Given the description of an element on the screen output the (x, y) to click on. 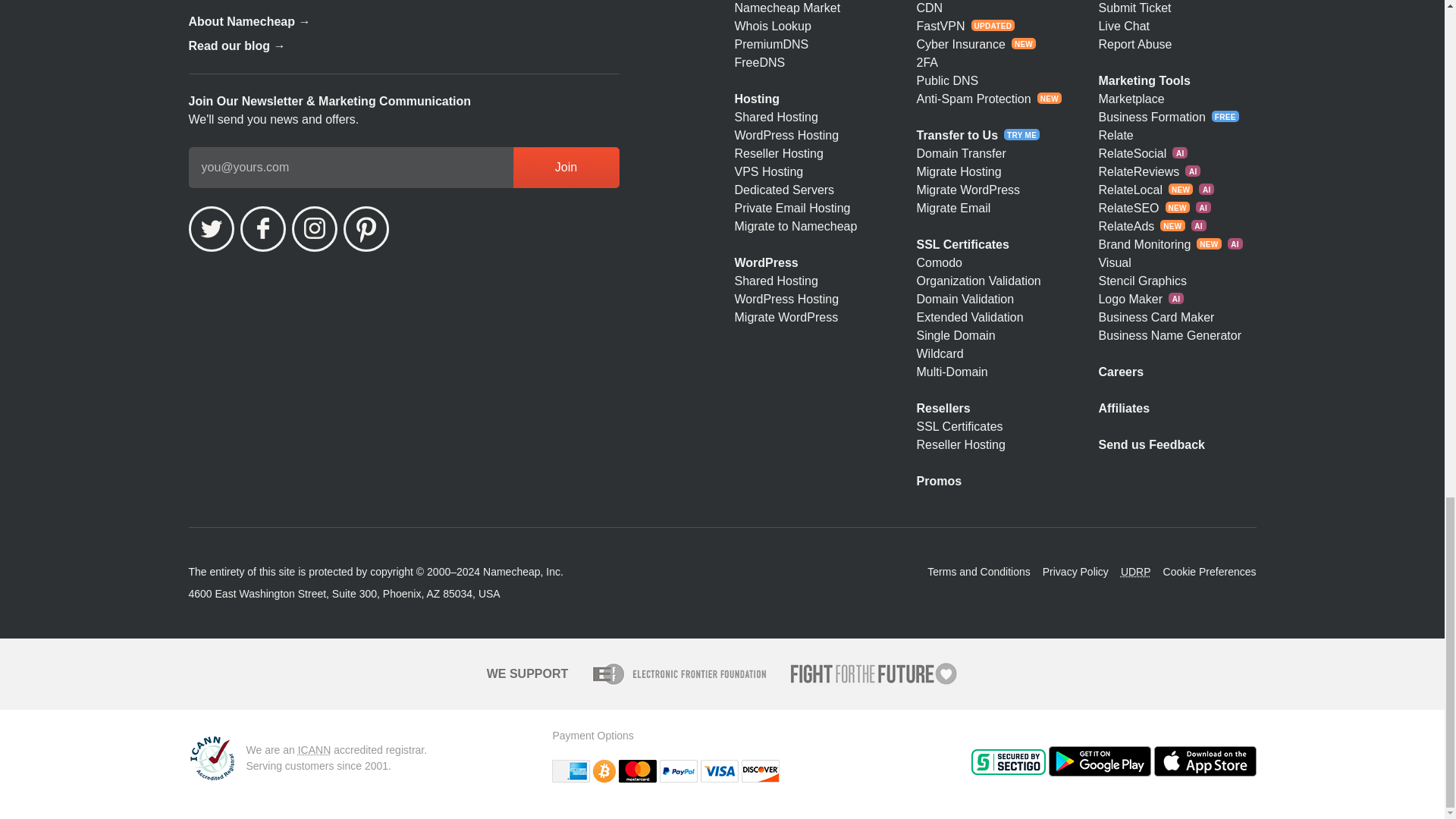
iOS App Store (1205, 761)
MasterCard (637, 771)
American Express (570, 771)
Twitter (209, 228)
Uniform Domain Name Dispute Resolution Policy (1136, 571)
Bitcoin (603, 771)
PayPal (678, 771)
Internet Corporation for Assigned Names and Numbers (314, 749)
Pinterest (365, 228)
Discover (759, 771)
Facebook (262, 228)
Visa (719, 771)
Instagram (313, 228)
Android app on google play (1099, 761)
